Given the description of an element on the screen output the (x, y) to click on. 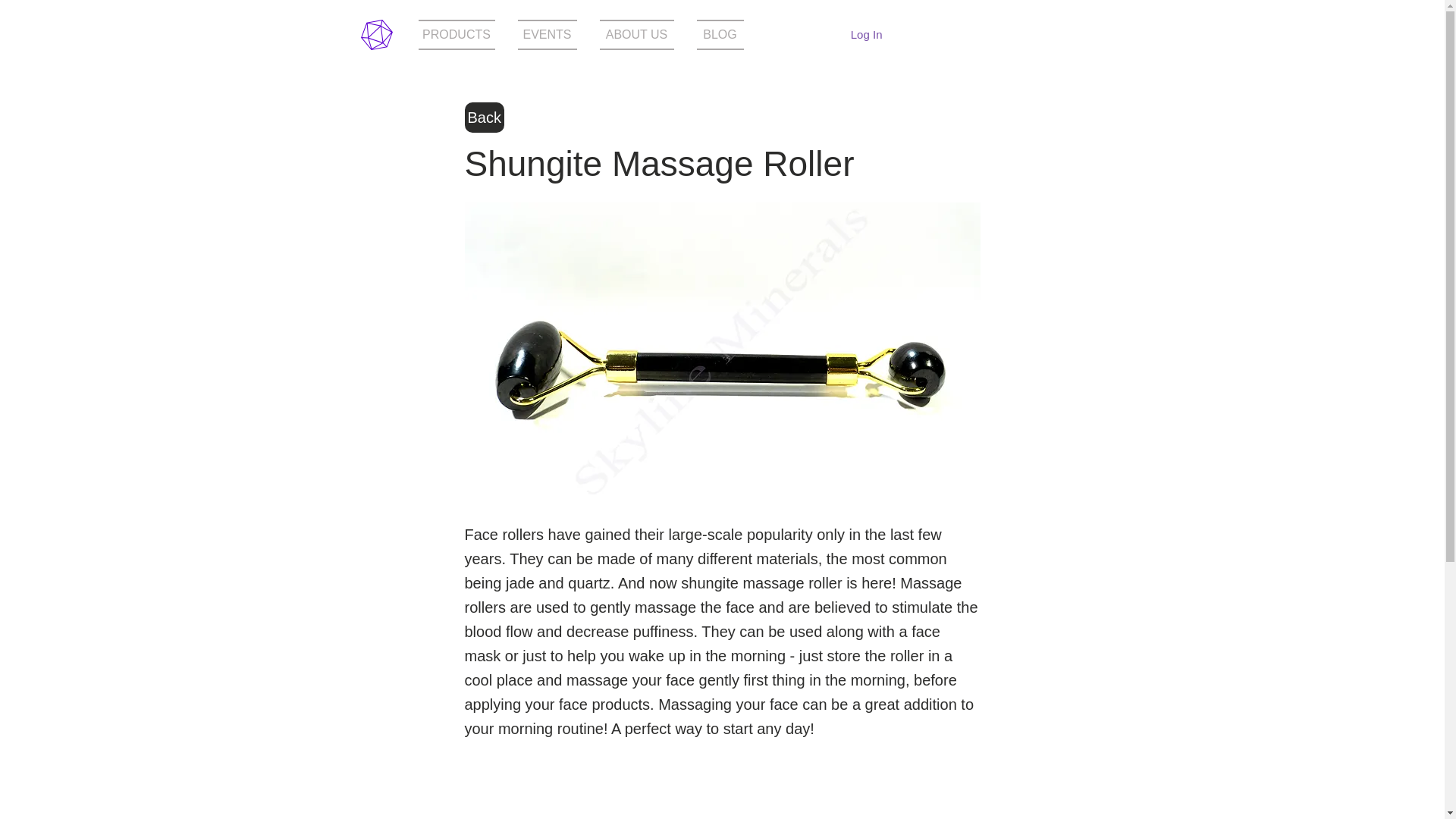
Back (483, 117)
EVENTS (547, 34)
ABOUT US (636, 34)
Log In (866, 33)
BLOG (714, 34)
PRODUCTS (462, 34)
